Given the description of an element on the screen output the (x, y) to click on. 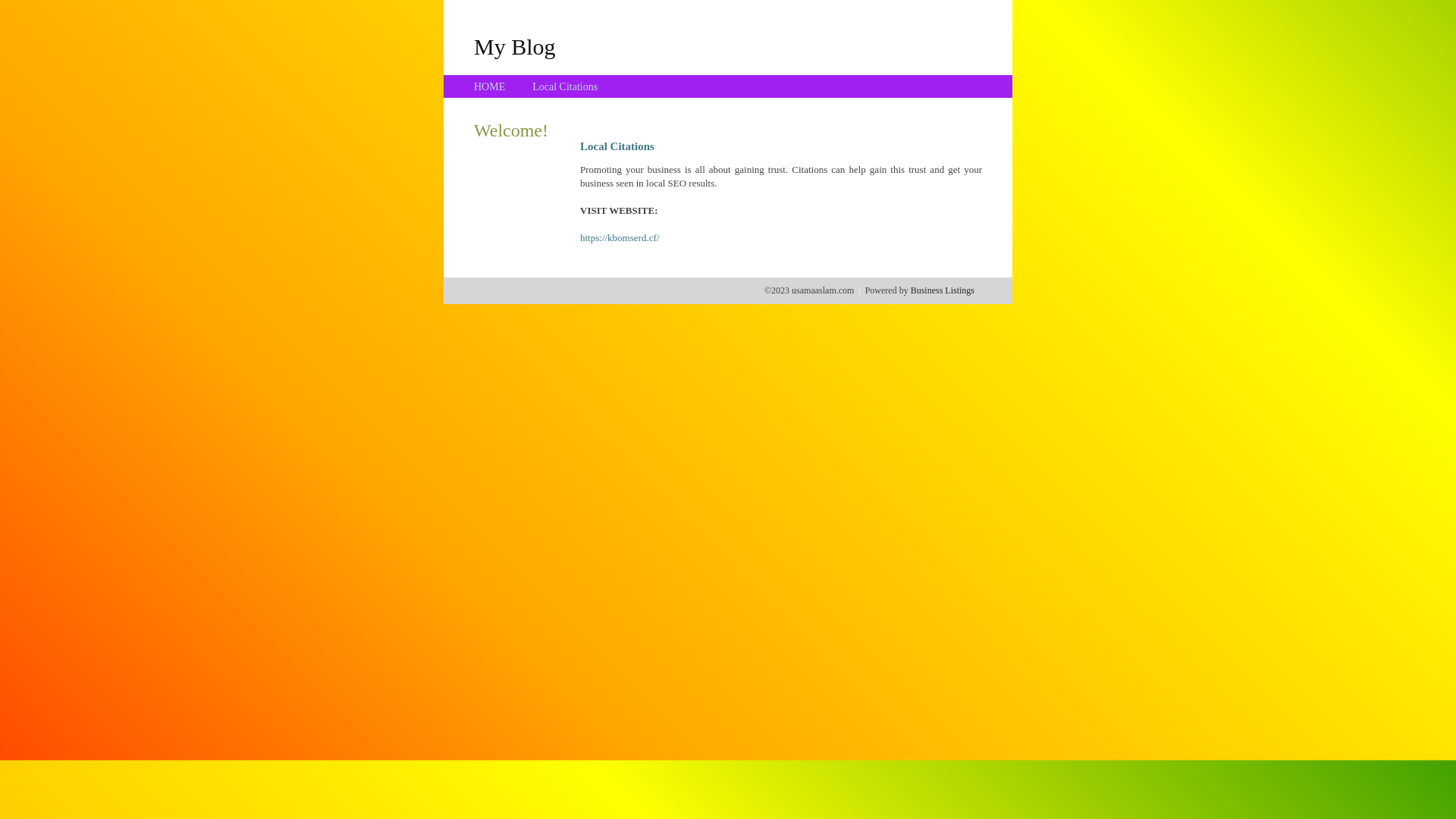
HOME Element type: text (489, 86)
https://kbomserd.cf/ Element type: text (619, 237)
Local Citations Element type: text (564, 86)
My Blog Element type: text (514, 46)
Business Listings Element type: text (942, 290)
